Given the description of an element on the screen output the (x, y) to click on. 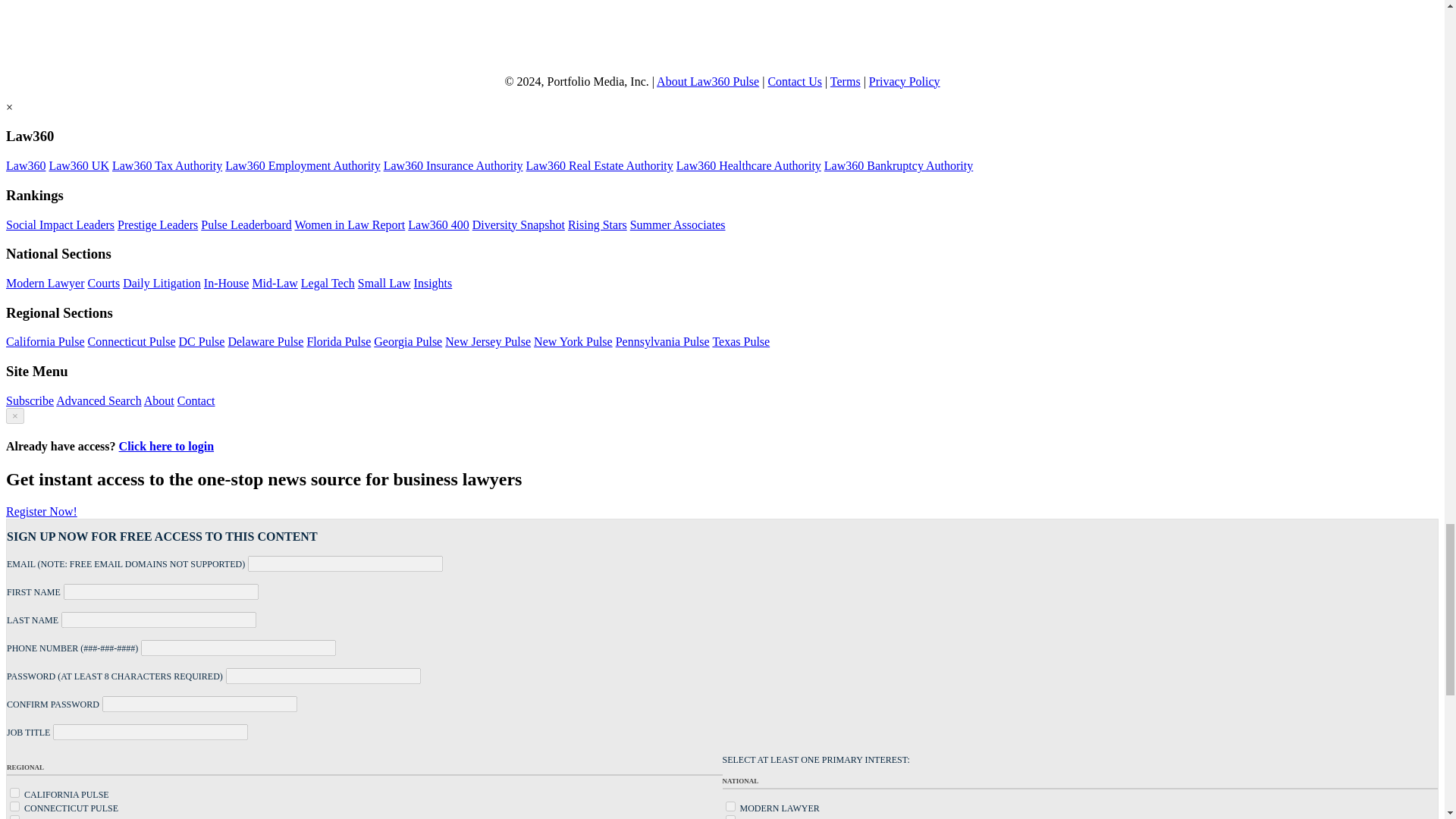
dc-pulse (15, 816)
connecticut-pulse (15, 806)
modern-lawyer (730, 806)
california-pulse (15, 792)
